Given the description of an element on the screen output the (x, y) to click on. 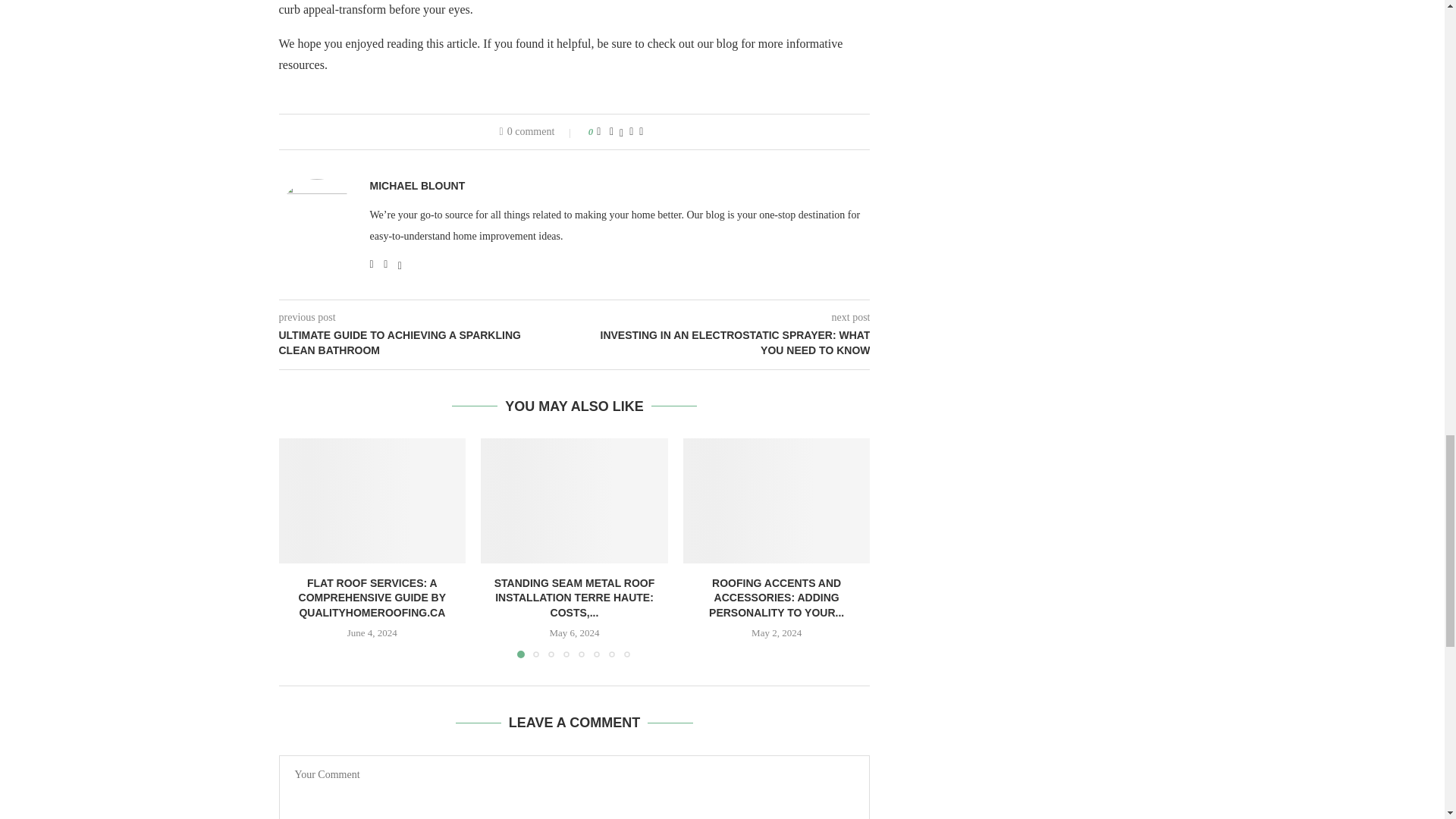
Author Michael Blount (417, 186)
